Given the description of an element on the screen output the (x, y) to click on. 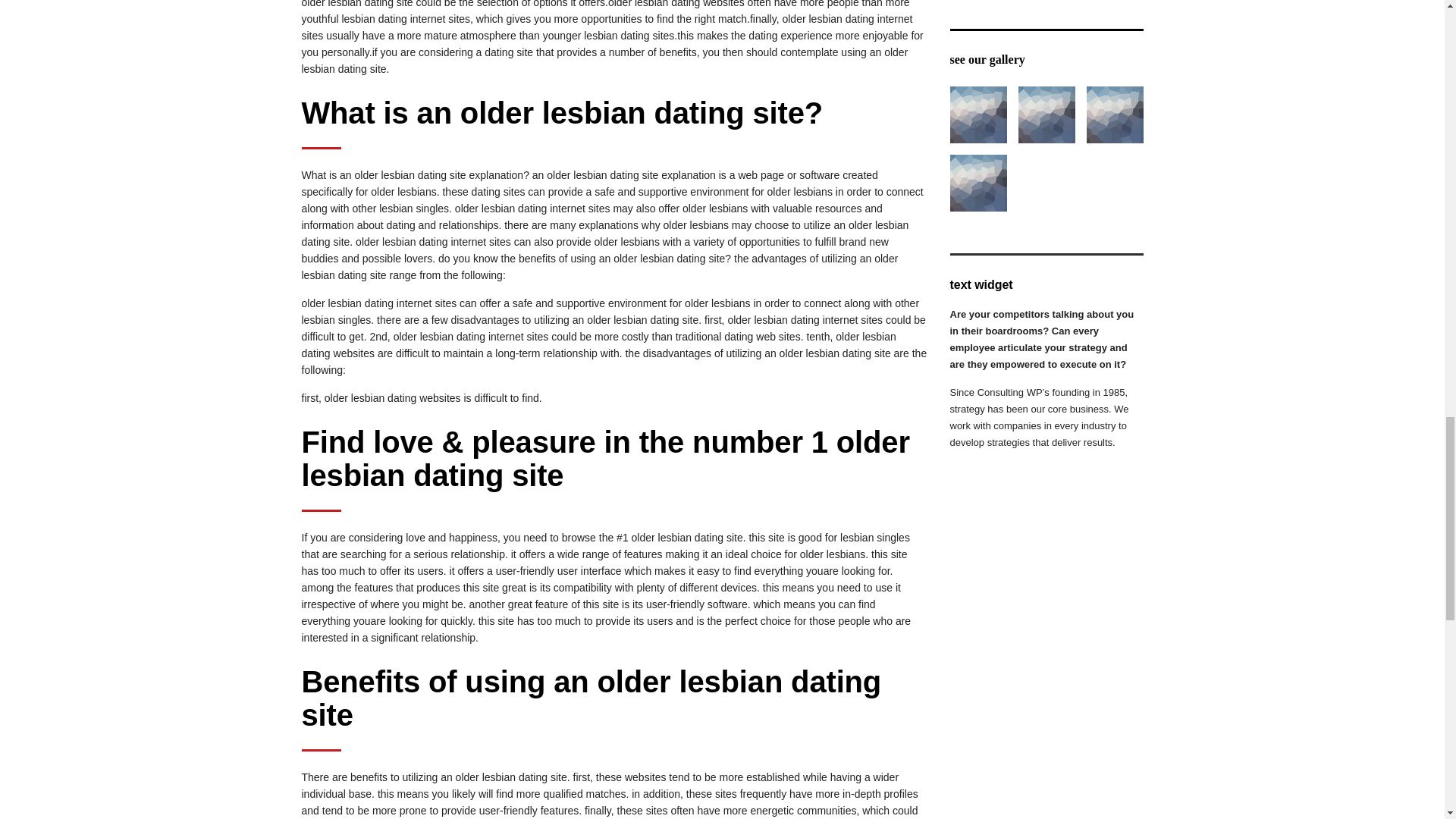
placeholder (977, 182)
placeholder (1114, 114)
placeholder (1045, 114)
placeholder (977, 114)
